Given the description of an element on the screen output the (x, y) to click on. 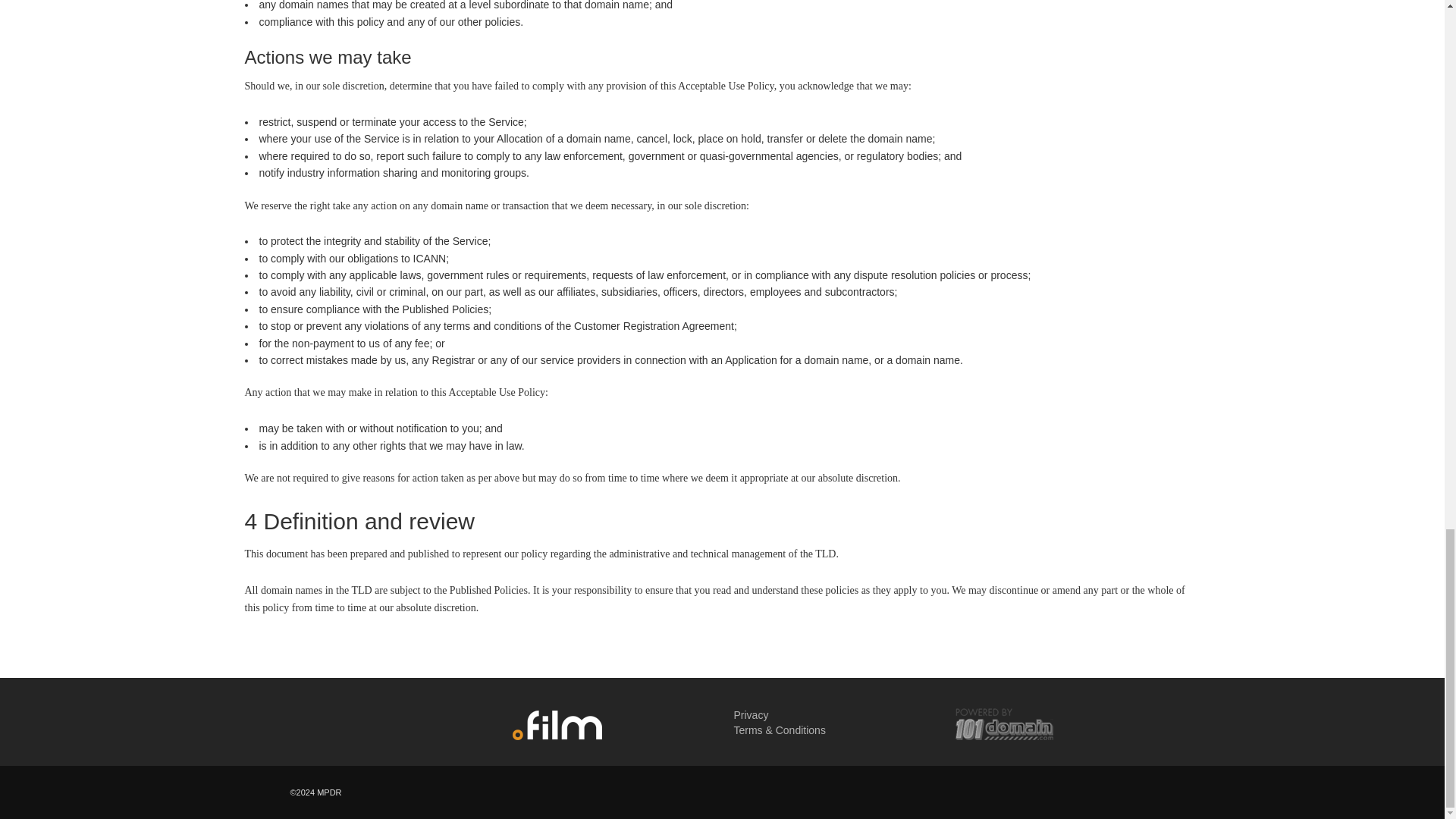
Privacy (750, 715)
